Given the description of an element on the screen output the (x, y) to click on. 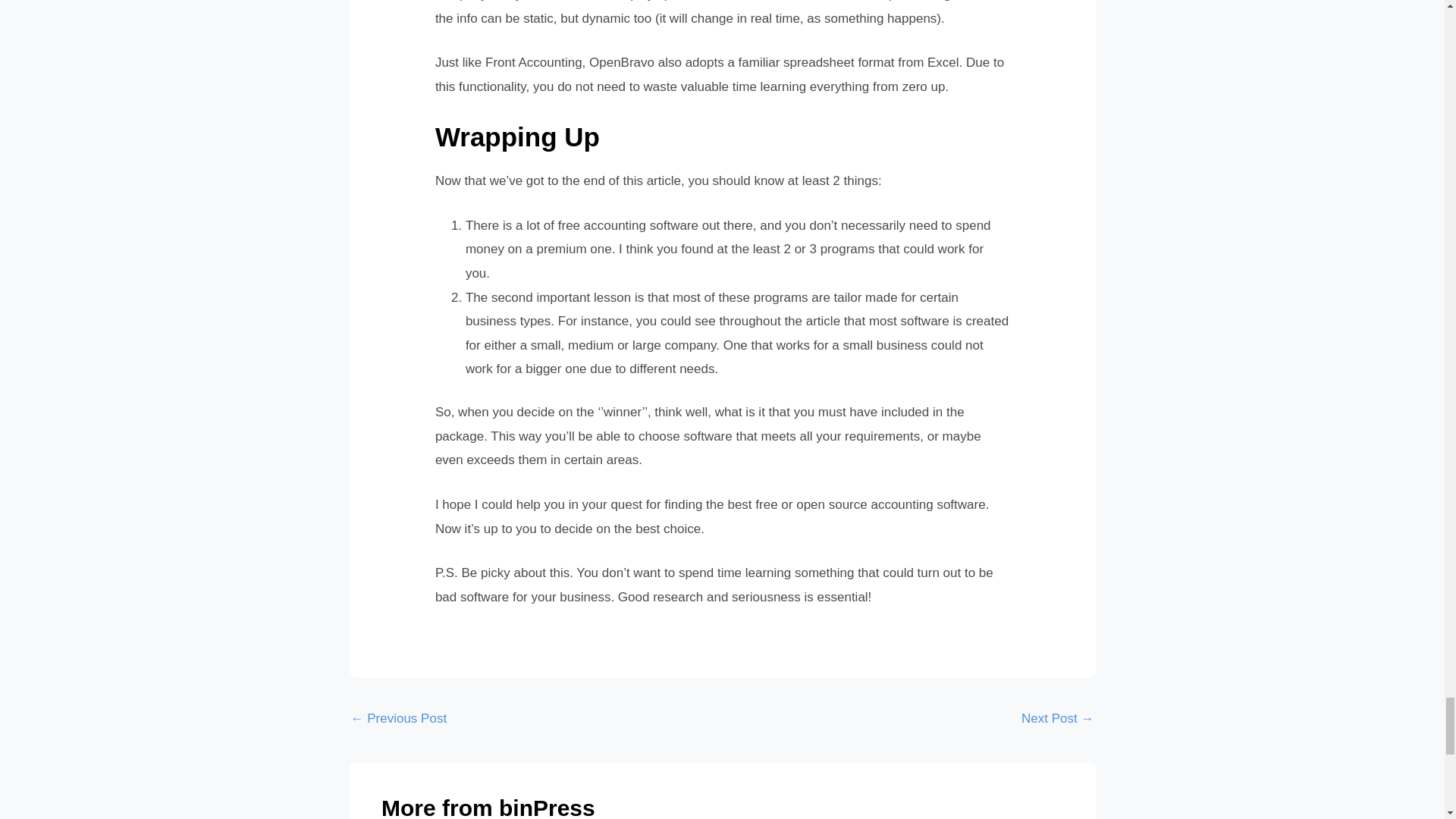
16 Best Open Source Content Management System Compared (398, 720)
How to Make Money from a Fitness Blog? (1057, 720)
